Given the description of an element on the screen output the (x, y) to click on. 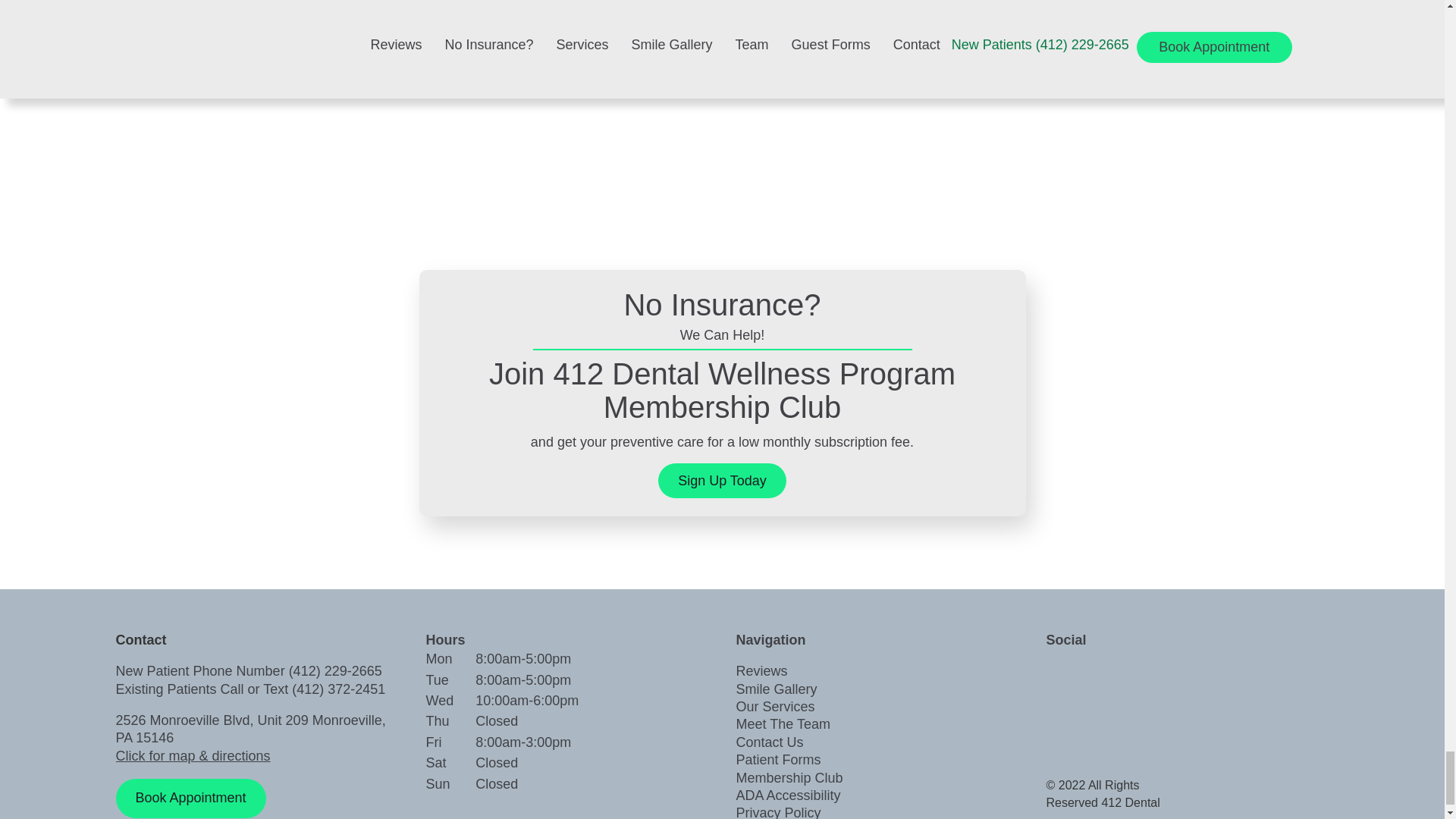
Smile Gallery (775, 688)
Contact Us (769, 742)
Sign Up Today (722, 480)
Membership Club (789, 777)
Book Appointment (189, 797)
Meet The Team (782, 724)
Our Services (774, 706)
Patient Forms (778, 759)
ADA Accessibility (787, 795)
Reviews (761, 670)
